Given the description of an element on the screen output the (x, y) to click on. 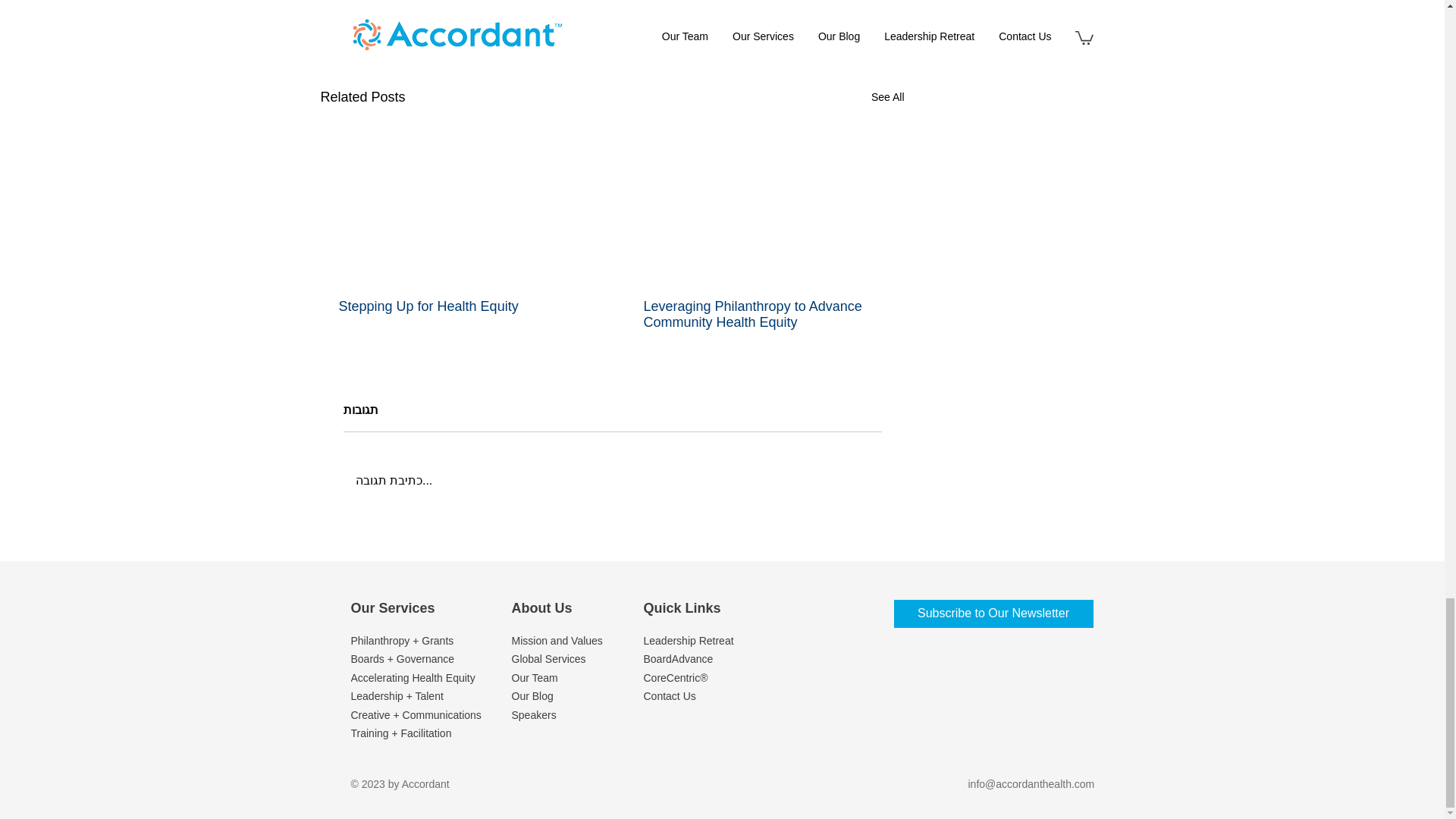
Community Health (815, 2)
Perspectives (547, 2)
See All (887, 97)
Leveraging Philanthropy to Advance Community Health Equity (764, 314)
Stepping Up for Health Equity (458, 306)
